Given the description of an element on the screen output the (x, y) to click on. 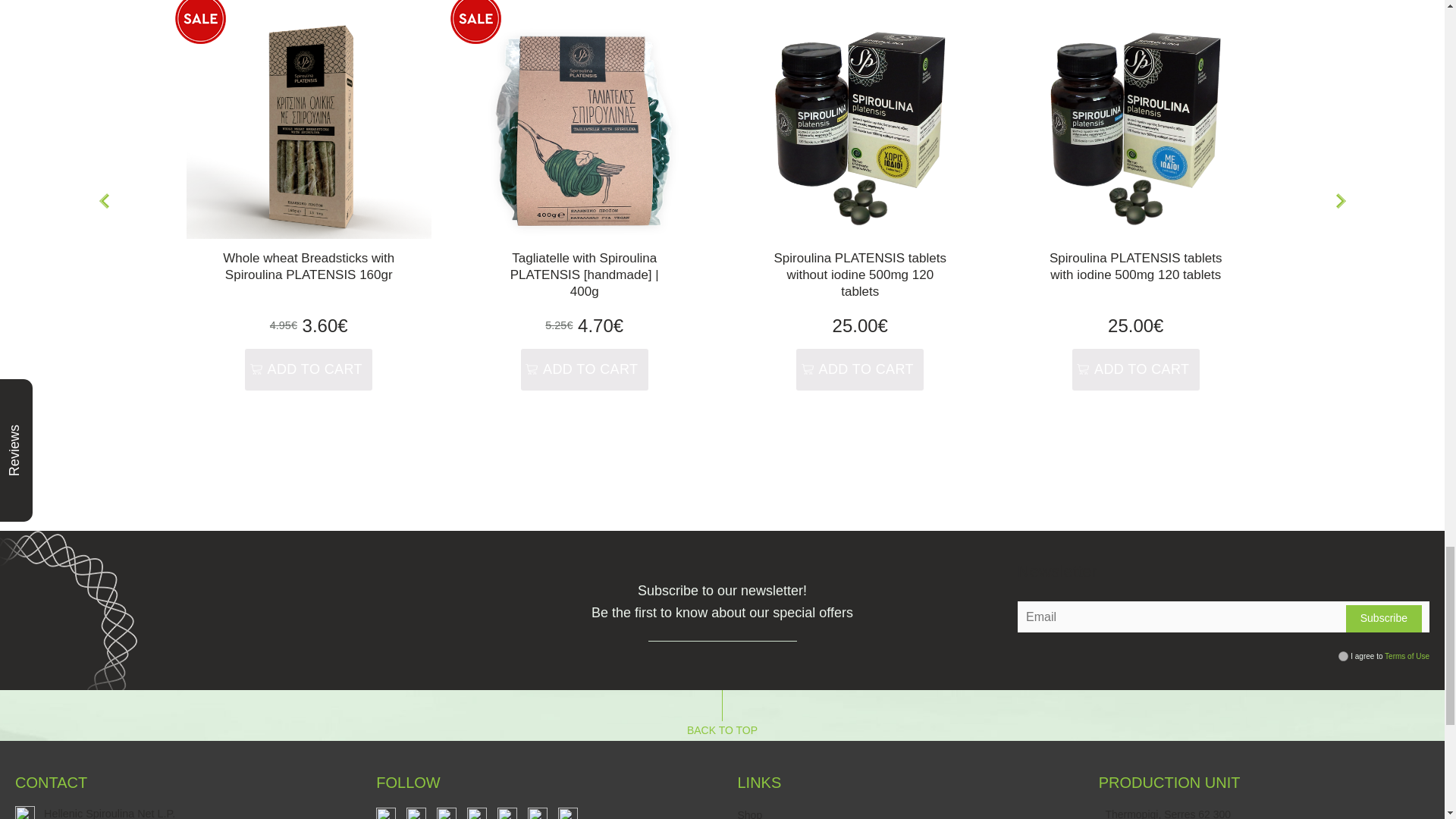
1 (1343, 655)
Subscribe (1383, 618)
BACK TO TOP (722, 715)
